Given the description of an element on the screen output the (x, y) to click on. 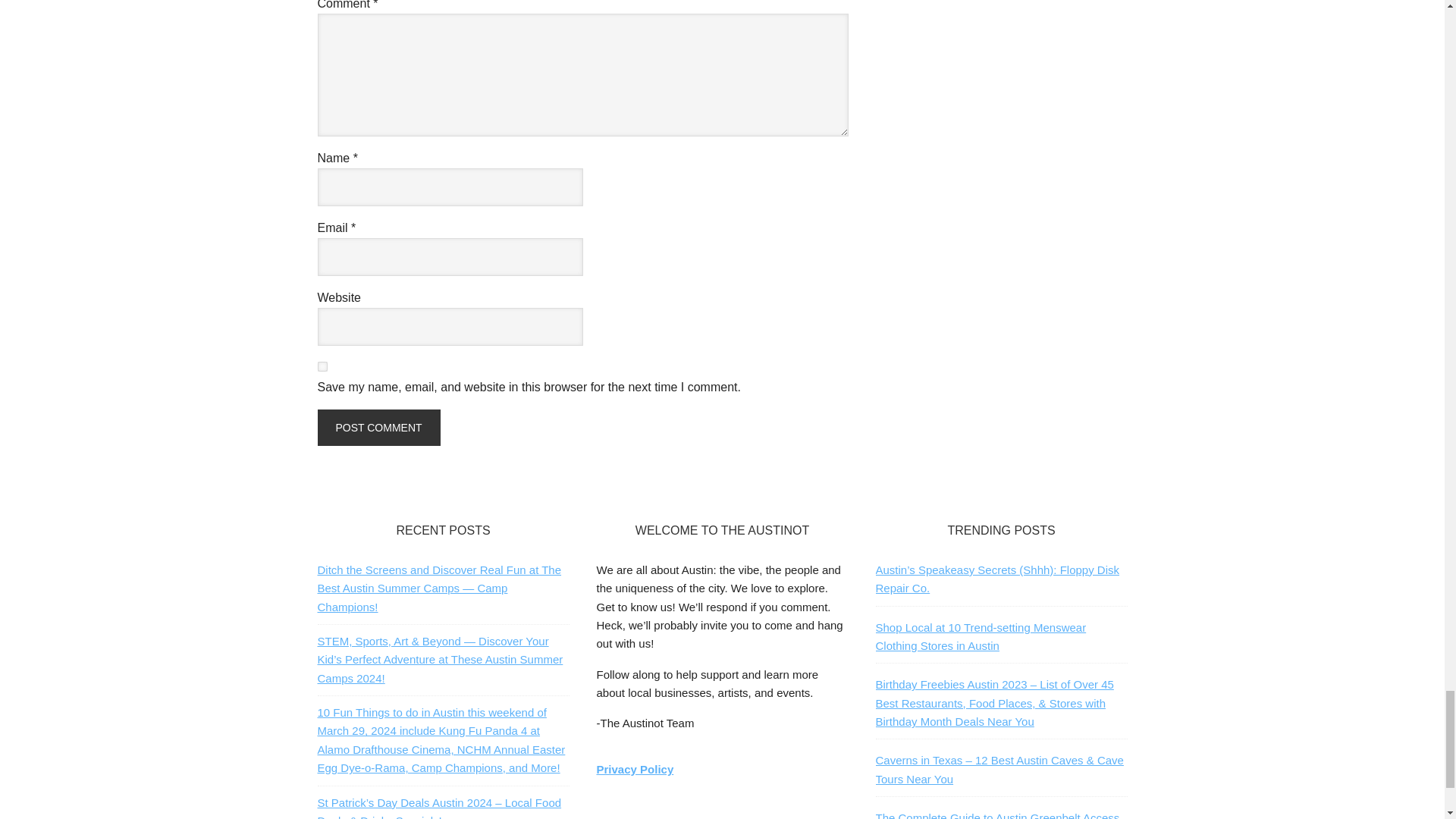
Post Comment (378, 427)
yes (321, 366)
